Given the description of an element on the screen output the (x, y) to click on. 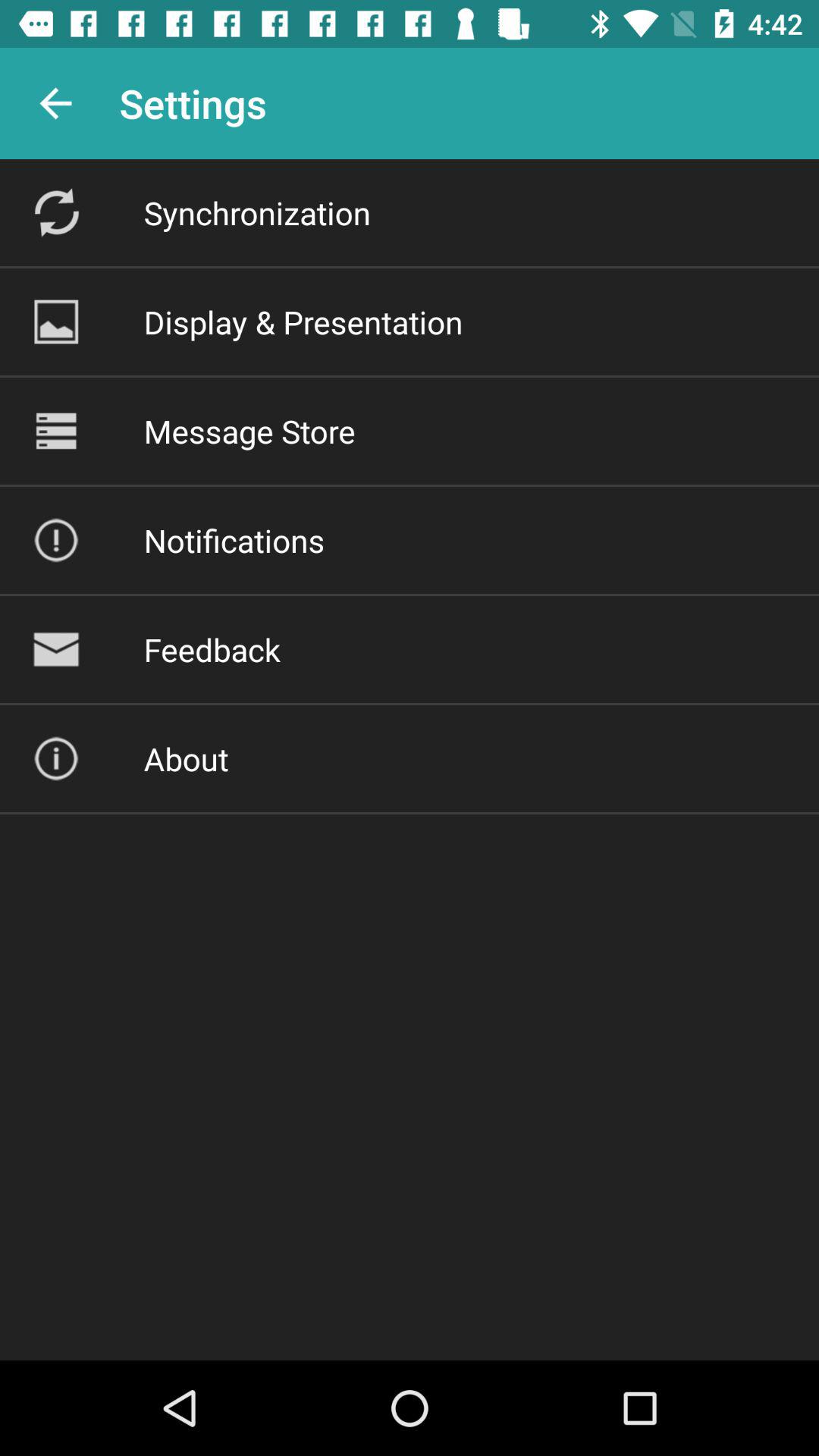
open icon below the feedback item (185, 758)
